Given the description of an element on the screen output the (x, y) to click on. 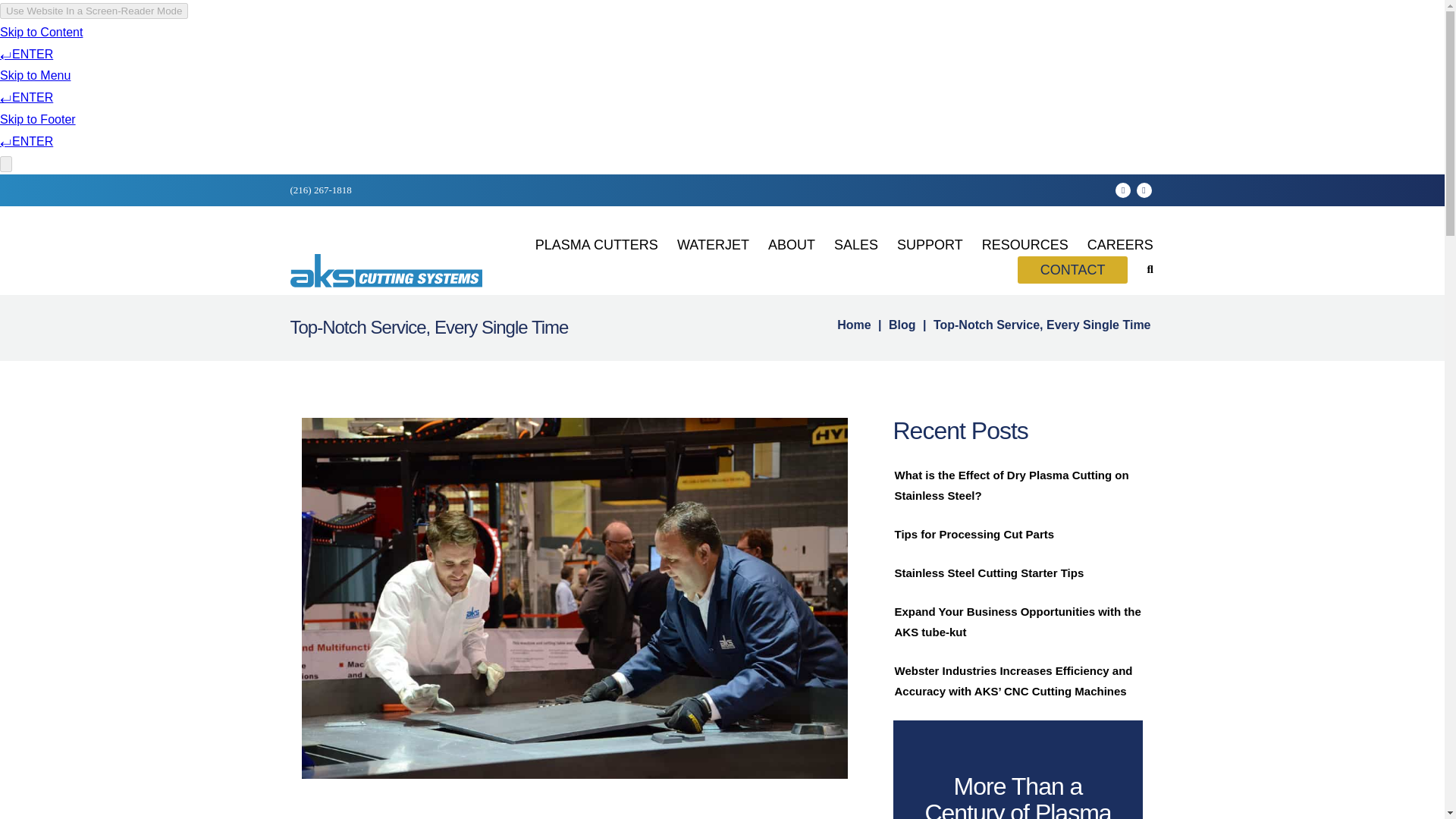
ABOUT (791, 244)
CAREERS (1120, 244)
WATERJET (713, 244)
Chat Widget (37, 782)
RESOURCES (1024, 244)
SALES (855, 244)
CONTACT (1072, 269)
SUPPORT (929, 244)
Home (853, 324)
PLASMA CUTTERS (596, 244)
Blog (901, 324)
